Given the description of an element on the screen output the (x, y) to click on. 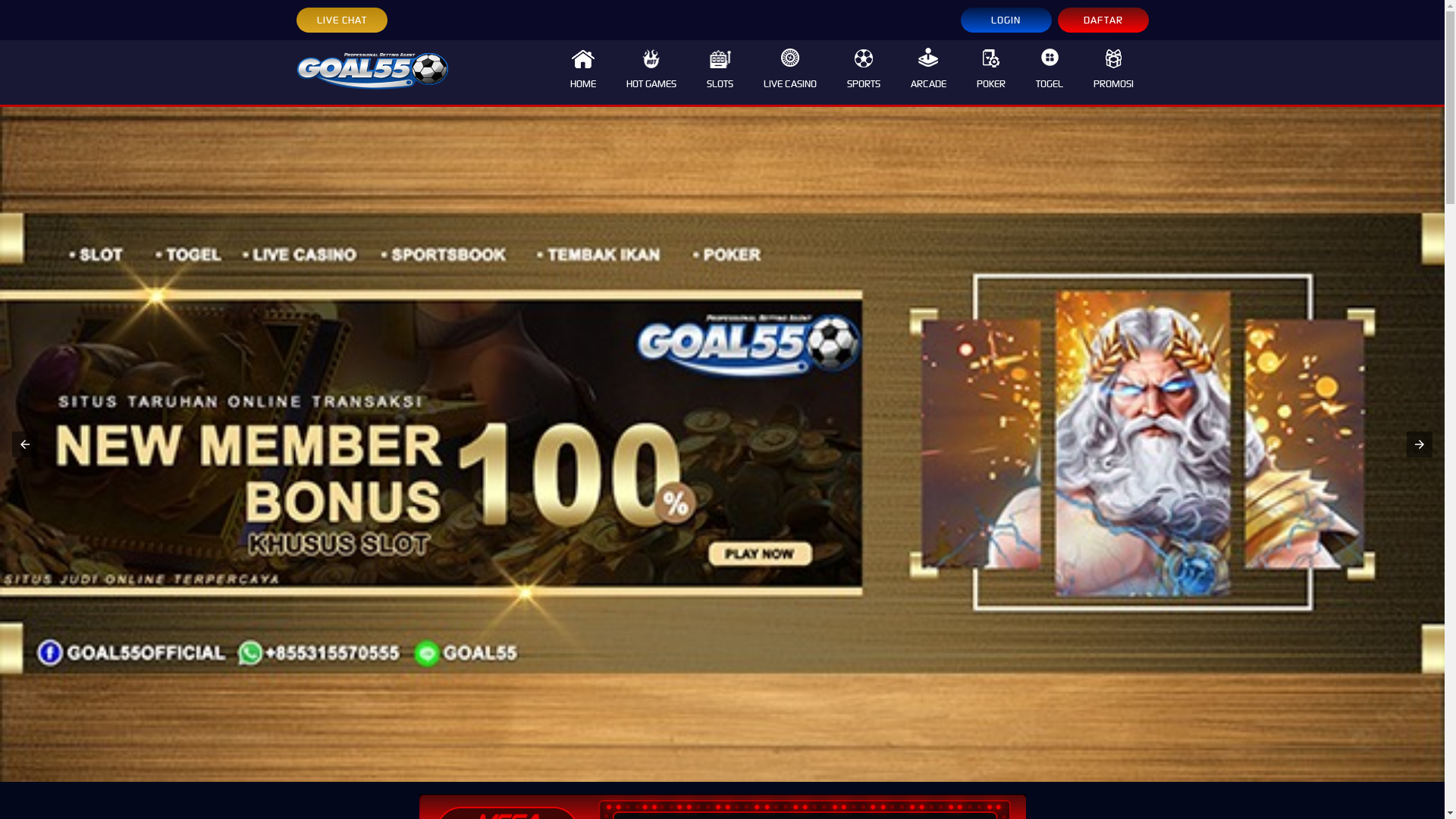
LIVE CHAT Element type: text (340, 19)
POKER Element type: text (990, 72)
DAFTAR Element type: text (1102, 19)
Next item in carousel (3 of 3) Element type: hover (1419, 444)
LOGIN Element type: text (1005, 19)
HOT GAMES Element type: text (651, 72)
SLOTS Element type: text (719, 72)
LIVE CASINO Element type: text (789, 72)
ARCADE Element type: text (927, 72)
Previous item in carousel (1 of 3) Element type: hover (24, 444)
SPORTS Element type: text (862, 72)
PROMOSI Element type: text (1113, 72)
TOGEL Element type: text (1049, 72)
HOME Element type: text (583, 72)
